Given the description of an element on the screen output the (x, y) to click on. 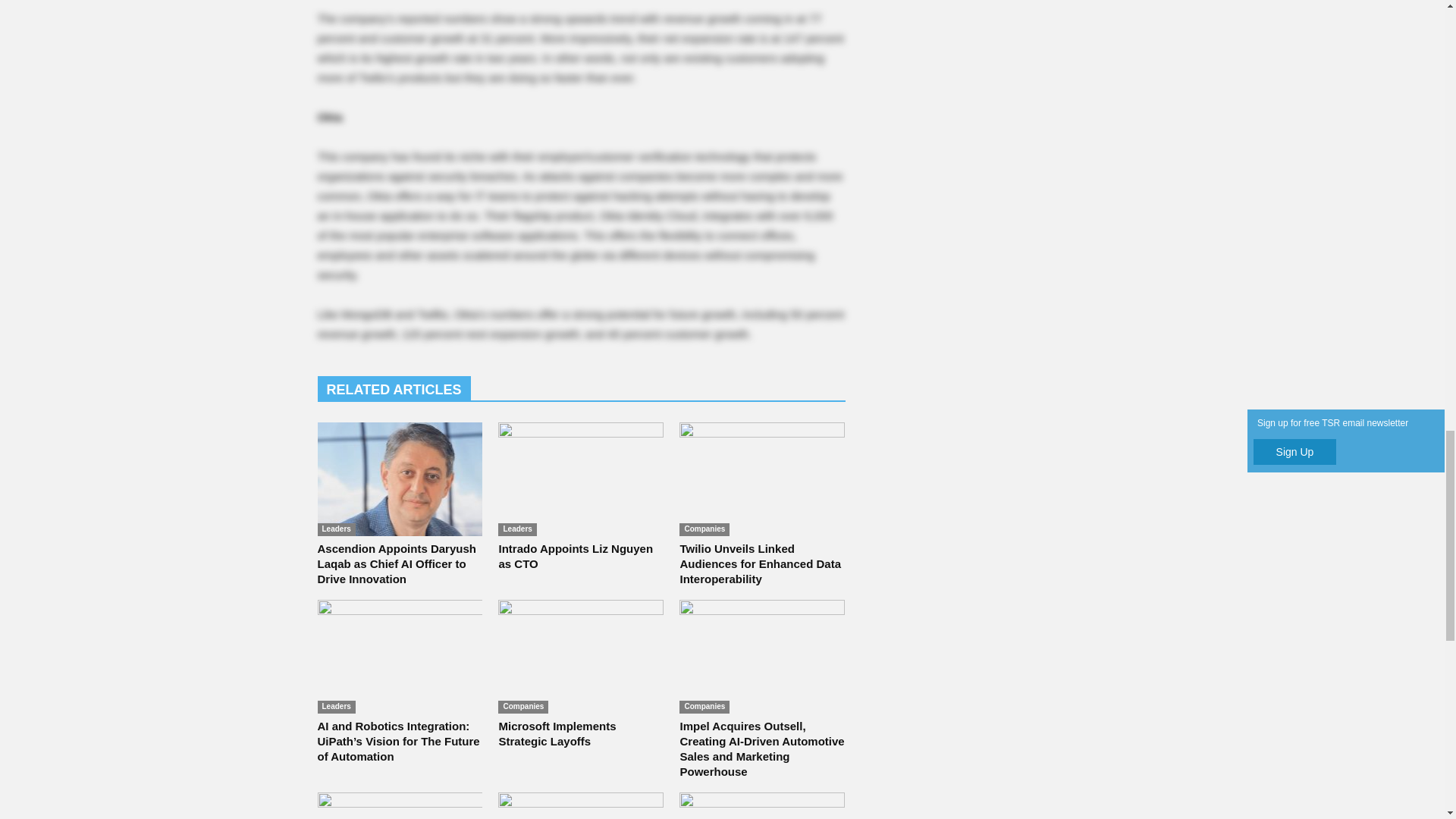
Intrado Appoints Liz Nguyen as CTO (580, 479)
Intrado Appoints Liz Nguyen as CTO (574, 556)
Microsoft Implements Strategic Layoffs (580, 656)
